Given the description of an element on the screen output the (x, y) to click on. 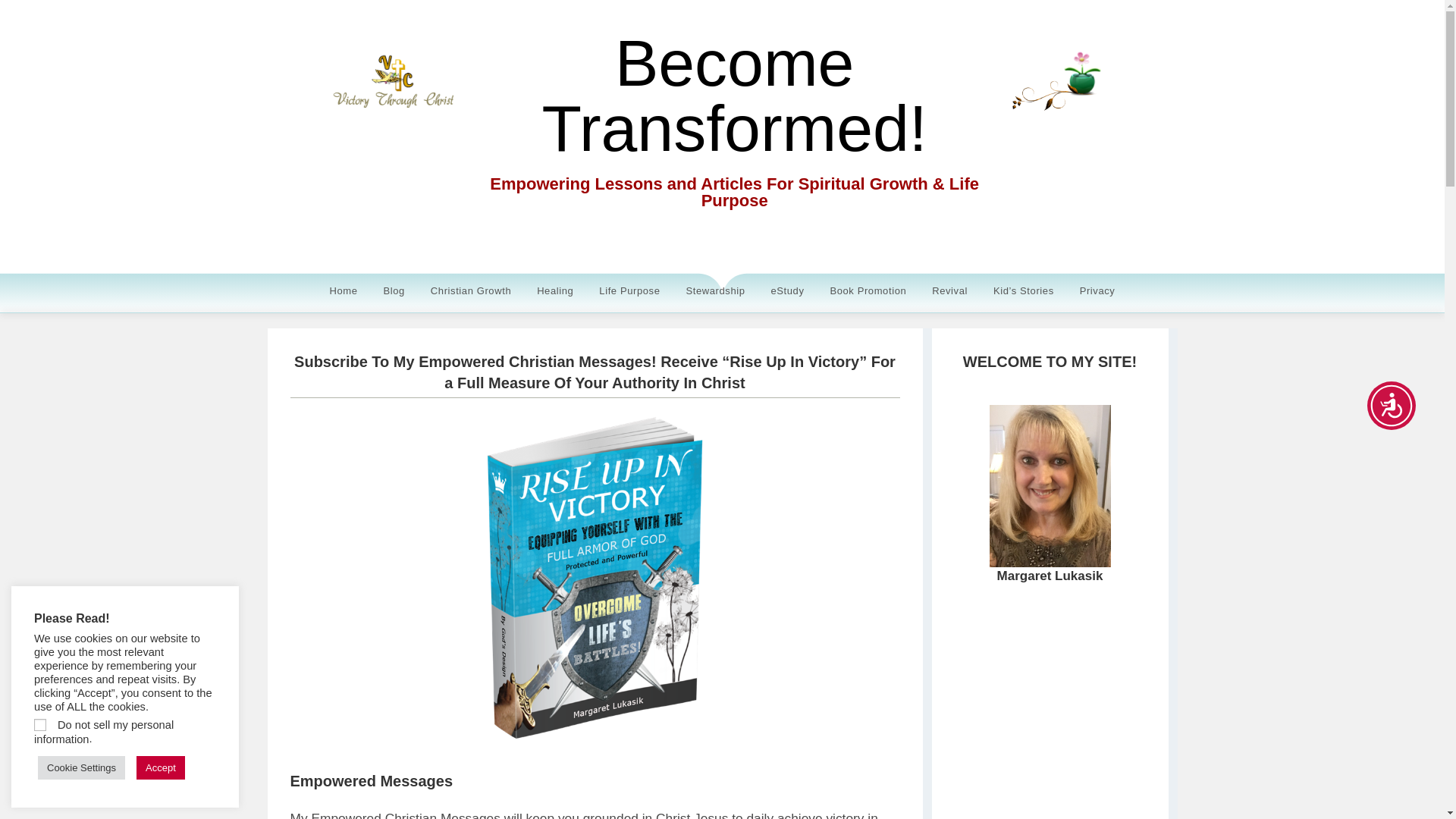
Accessibility Menu (1391, 405)
Home (343, 290)
eStudy (786, 290)
Christian Growth (470, 290)
Book Promotion (867, 290)
Healing (555, 290)
Stewardship (714, 290)
Blog (392, 290)
on (39, 725)
Advertisement (1094, 718)
Life Purpose (629, 290)
